Given the description of an element on the screen output the (x, y) to click on. 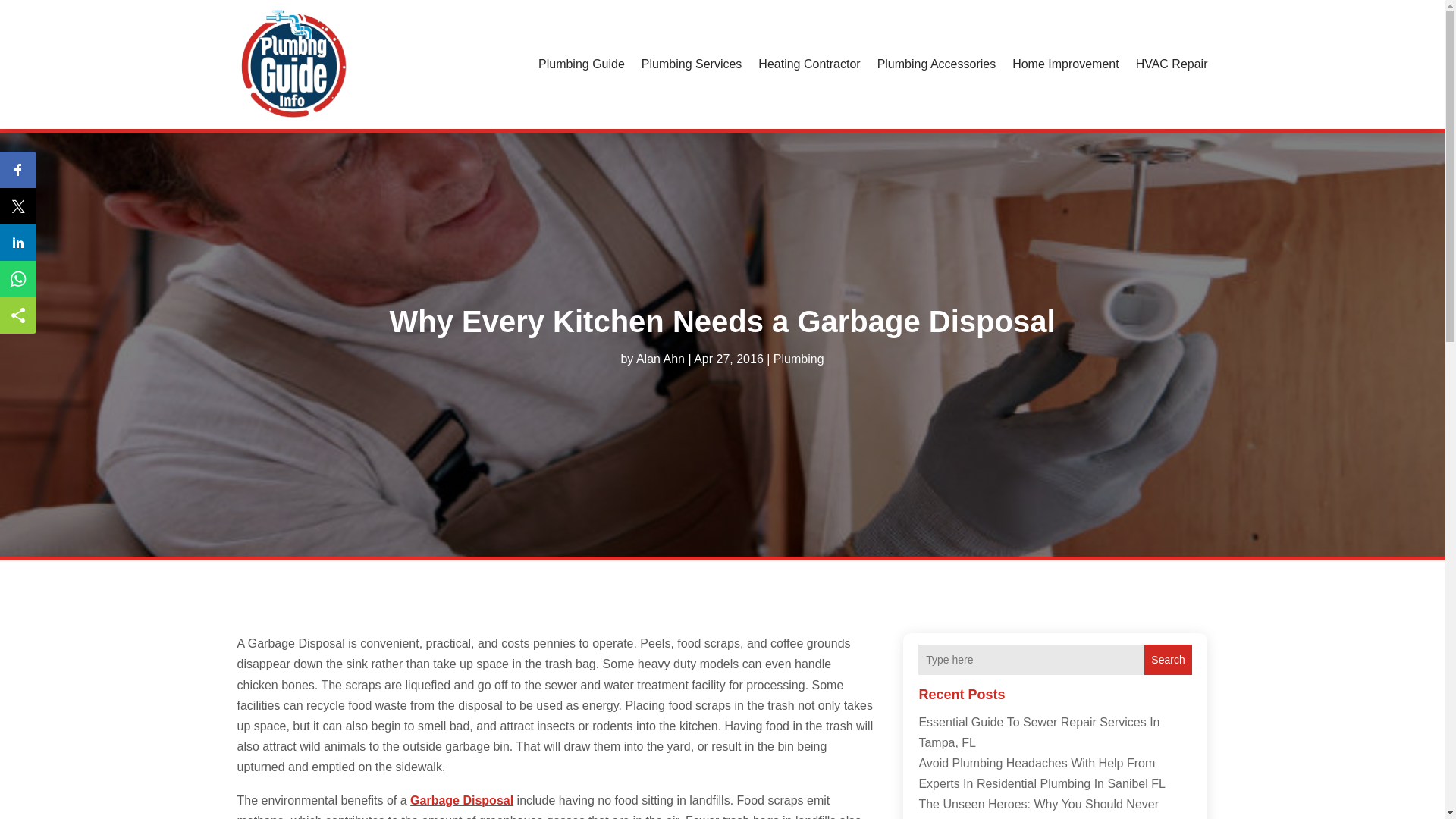
Garbage Disposal (461, 799)
Essential Guide To Sewer Repair Services In Tampa, FL (1038, 732)
Posts by Alan Ahn (660, 358)
Heating Contractor (809, 64)
Search (1168, 659)
Plumbing Accessories (936, 64)
Plumbing (798, 358)
Home Improvement (1065, 64)
Alan Ahn (660, 358)
